Given the description of an element on the screen output the (x, y) to click on. 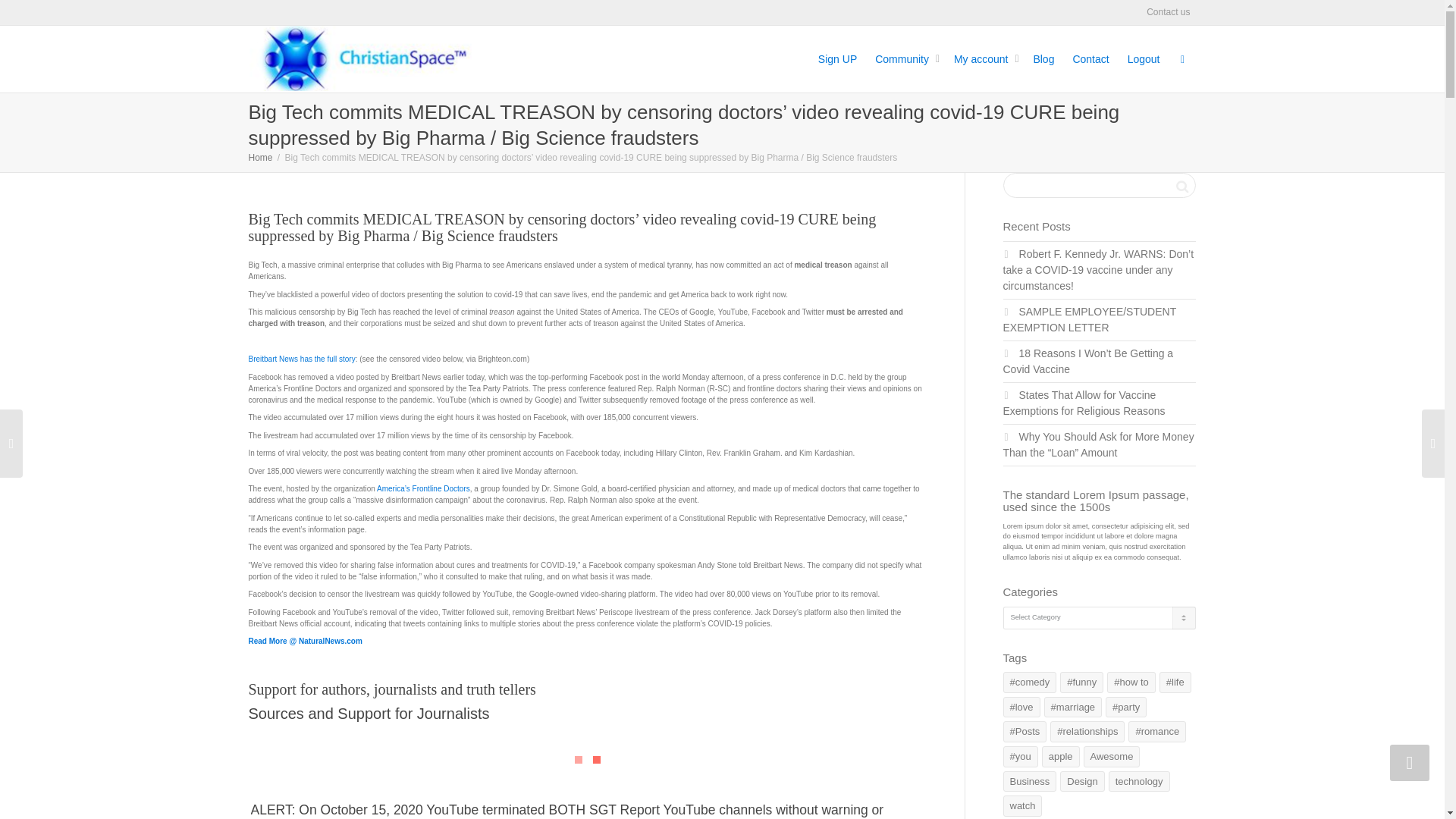
Blog (1043, 58)
christianspace.com (360, 57)
Community (905, 58)
Contact us (1167, 12)
Blog (1043, 58)
My account (983, 58)
Home (260, 157)
Contact us (1167, 12)
Sign UP (837, 58)
Logout (1143, 58)
Search (1181, 186)
Contact (1089, 58)
Community (905, 58)
Contact (1089, 58)
My account (983, 58)
